Given the description of an element on the screen output the (x, y) to click on. 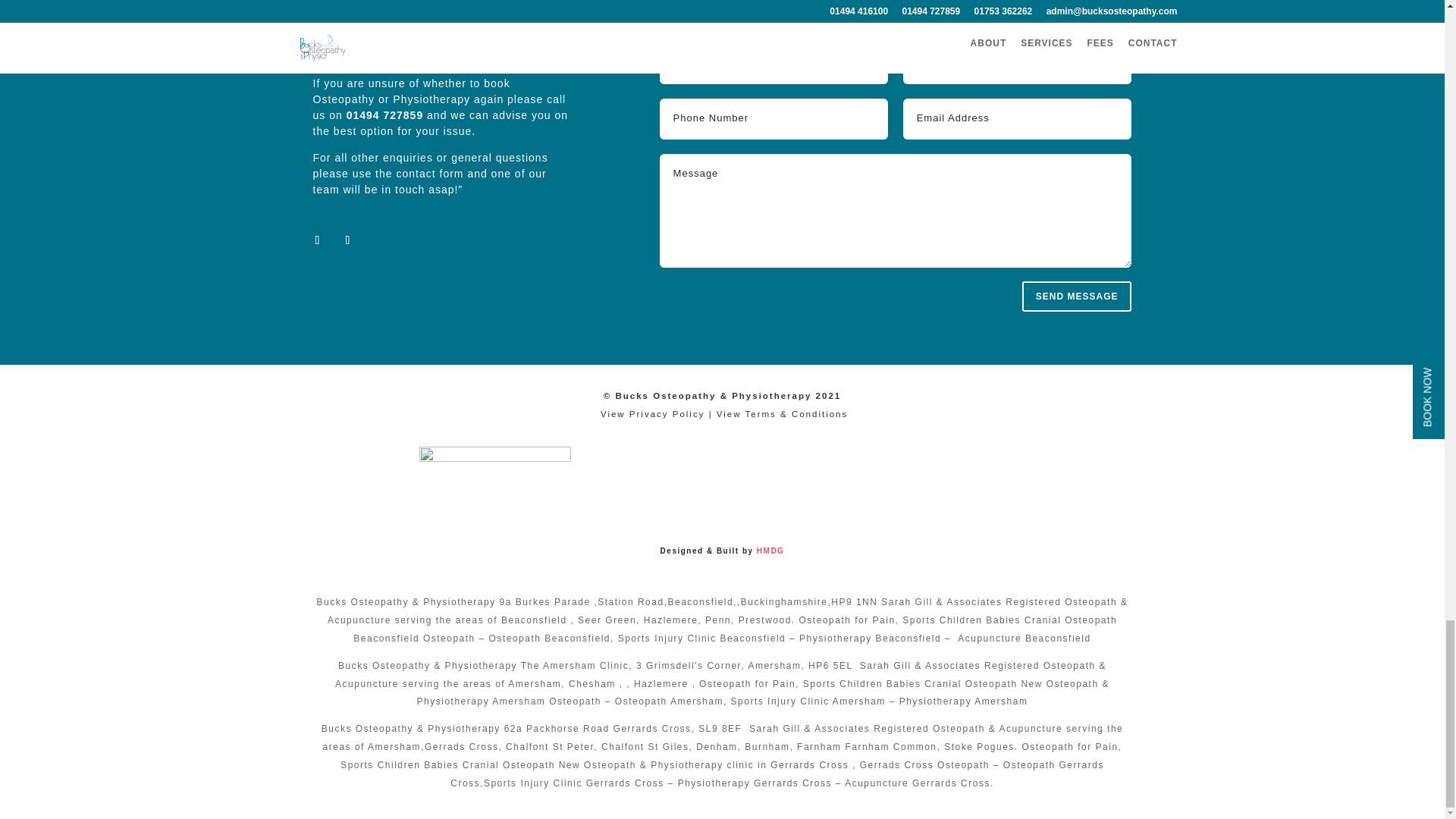
Follow on LinkedIn (346, 240)
Follow on Facebook (316, 240)
